Given the description of an element on the screen output the (x, y) to click on. 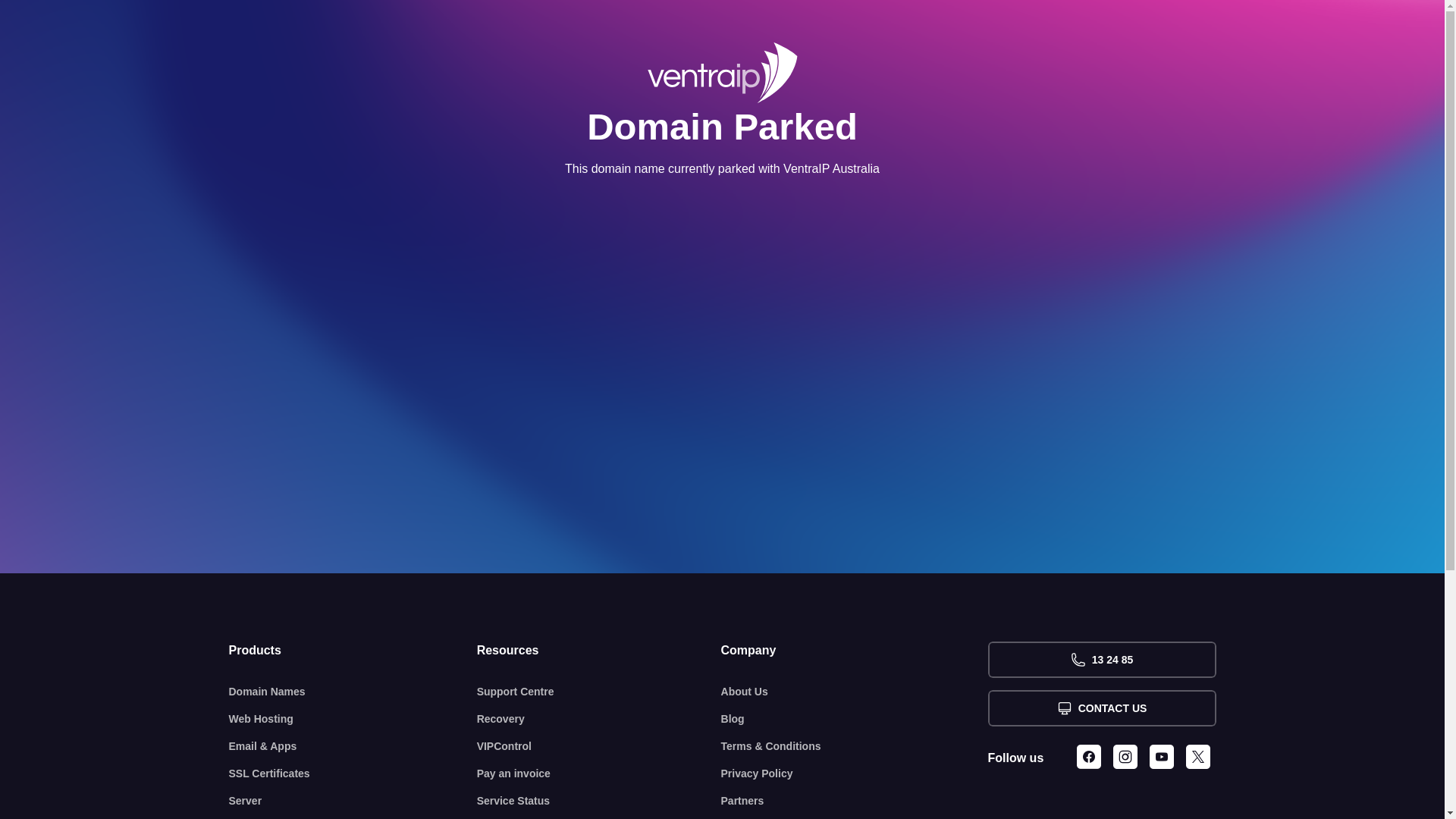
About Us Element type: text (854, 691)
Domain Names Element type: text (352, 691)
Terms & Conditions Element type: text (854, 745)
Recovery Element type: text (598, 718)
Blog Element type: text (854, 718)
SSL Certificates Element type: text (352, 773)
Service Status Element type: text (598, 800)
CONTACT US Element type: text (1101, 708)
Email & Apps Element type: text (352, 745)
Pay an invoice Element type: text (598, 773)
Privacy Policy Element type: text (854, 773)
13 24 85 Element type: text (1101, 659)
Web Hosting Element type: text (352, 718)
Partners Element type: text (854, 800)
Support Centre Element type: text (598, 691)
Server Element type: text (352, 800)
VIPControl Element type: text (598, 745)
